Given the description of an element on the screen output the (x, y) to click on. 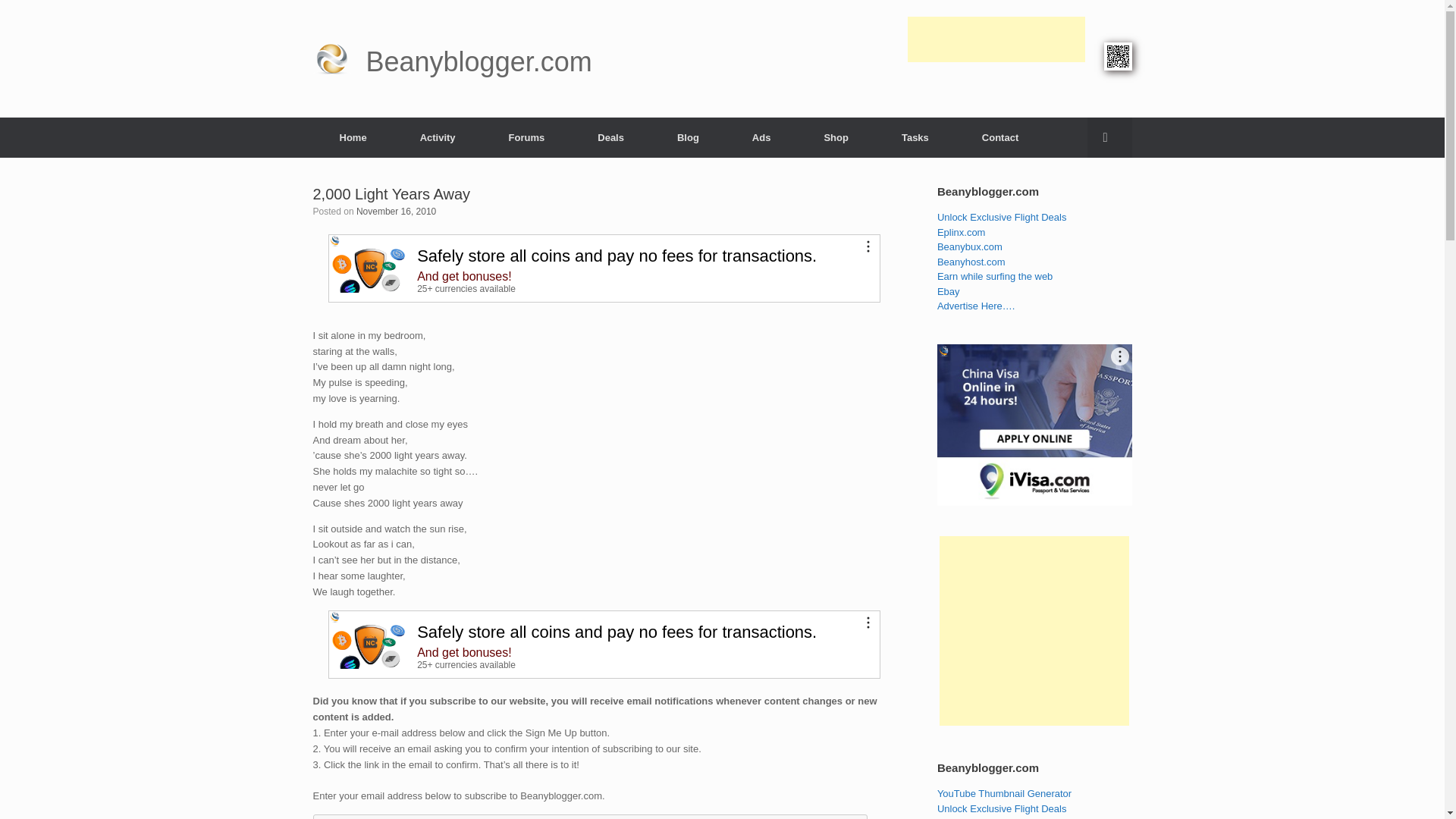
8:00 PM (395, 211)
Contact (1000, 137)
Advertisement (995, 103)
November 16, 2010 (395, 211)
Beanyblogger.com (452, 58)
Tasks (915, 137)
Blog (687, 137)
Activity (437, 137)
Home (353, 137)
Beanyblogger.com (452, 58)
Ads (761, 137)
Shop (835, 137)
Forums (526, 137)
Deals (610, 137)
